Given the description of an element on the screen output the (x, y) to click on. 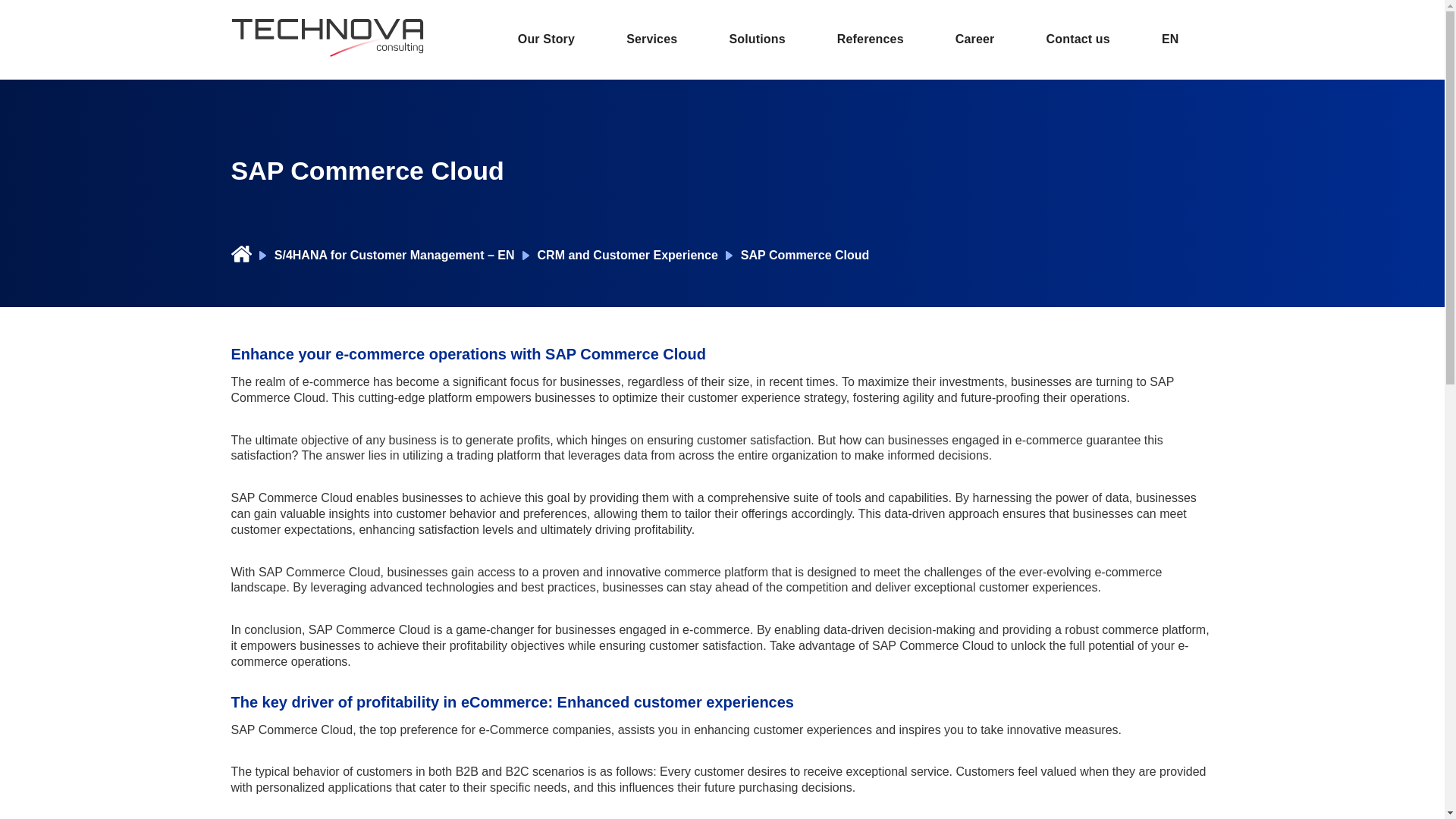
CRM and Customer Experience (627, 254)
Career (974, 39)
Solutions (756, 39)
References (870, 39)
Our Story (546, 39)
Contact us (1077, 39)
Services (651, 39)
